Given the description of an element on the screen output the (x, y) to click on. 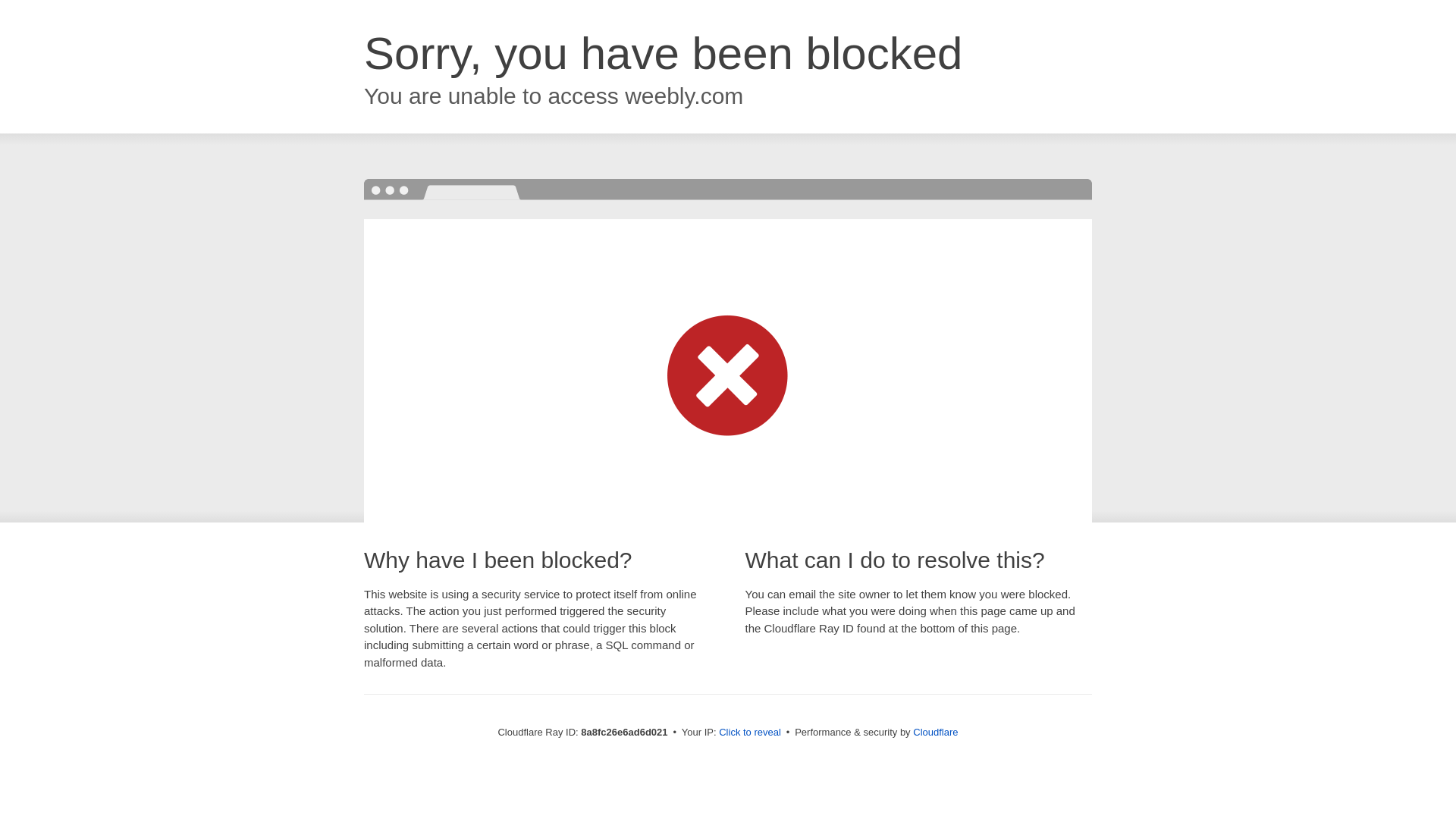
Cloudflare (935, 731)
Click to reveal (749, 732)
